Given the description of an element on the screen output the (x, y) to click on. 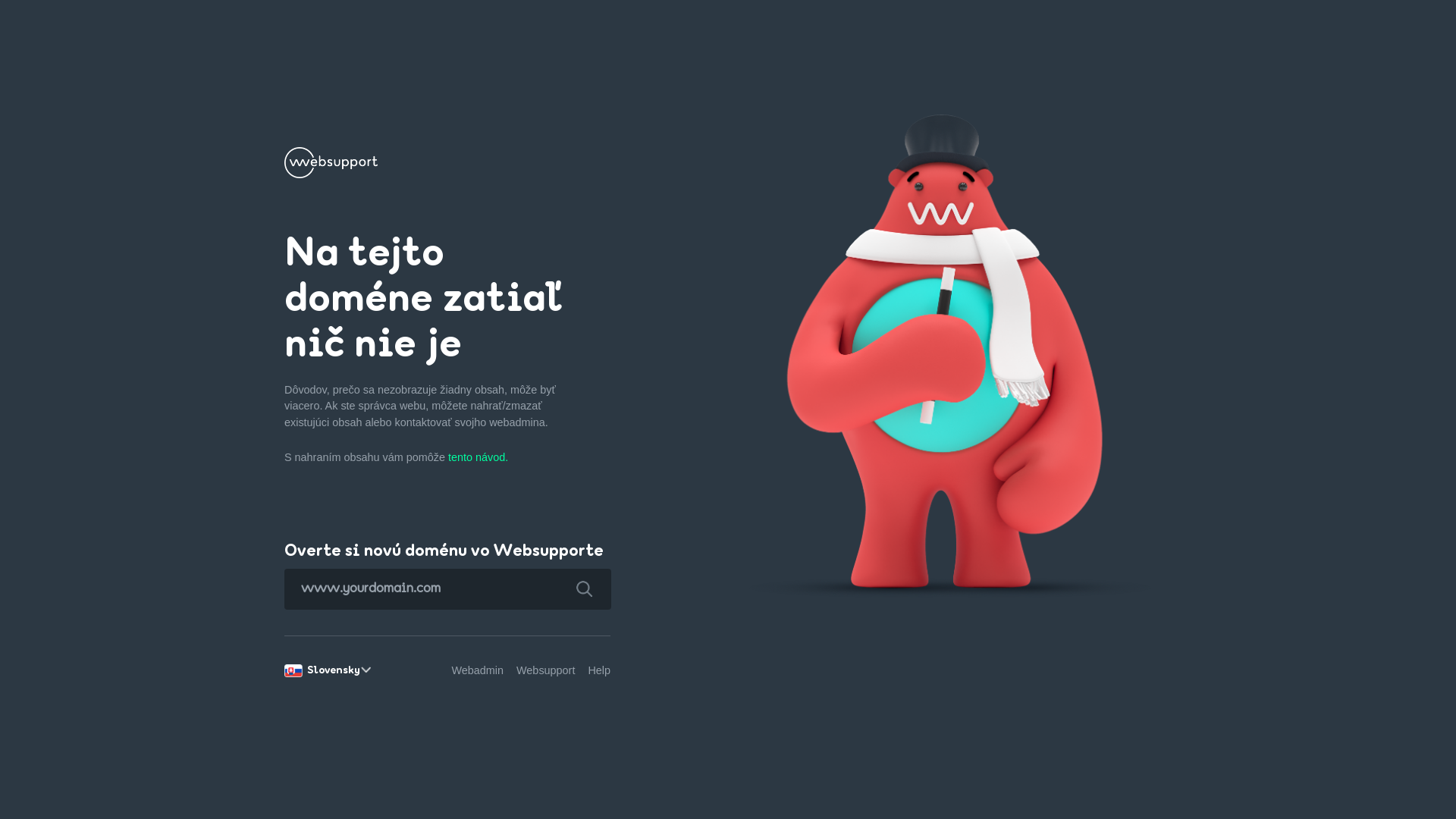
Webadmin Element type: text (477, 670)
Help Element type: text (598, 670)
Websupport Element type: text (545, 670)
